Given the description of an element on the screen output the (x, y) to click on. 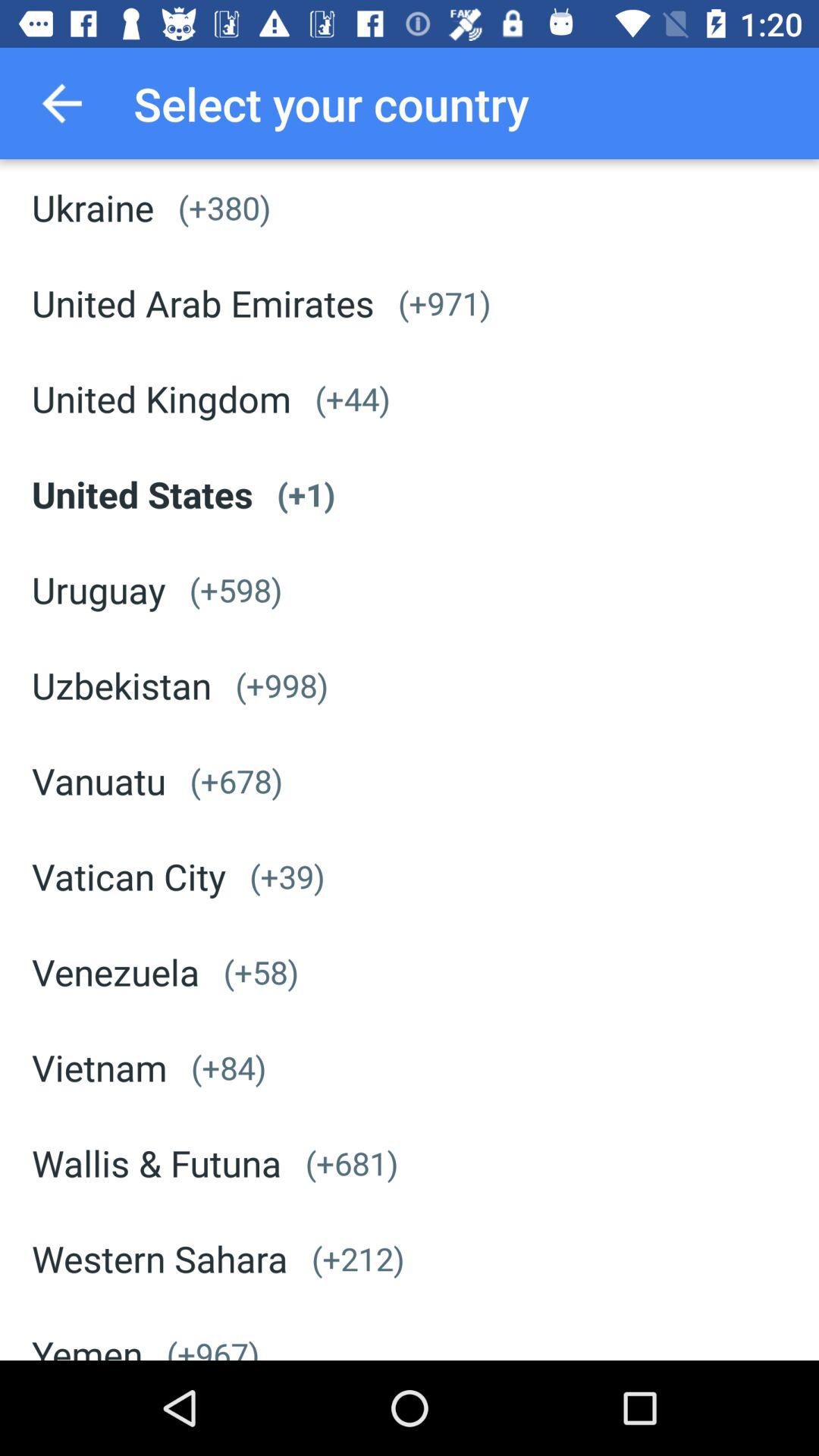
open item above ukraine icon (61, 103)
